Given the description of an element on the screen output the (x, y) to click on. 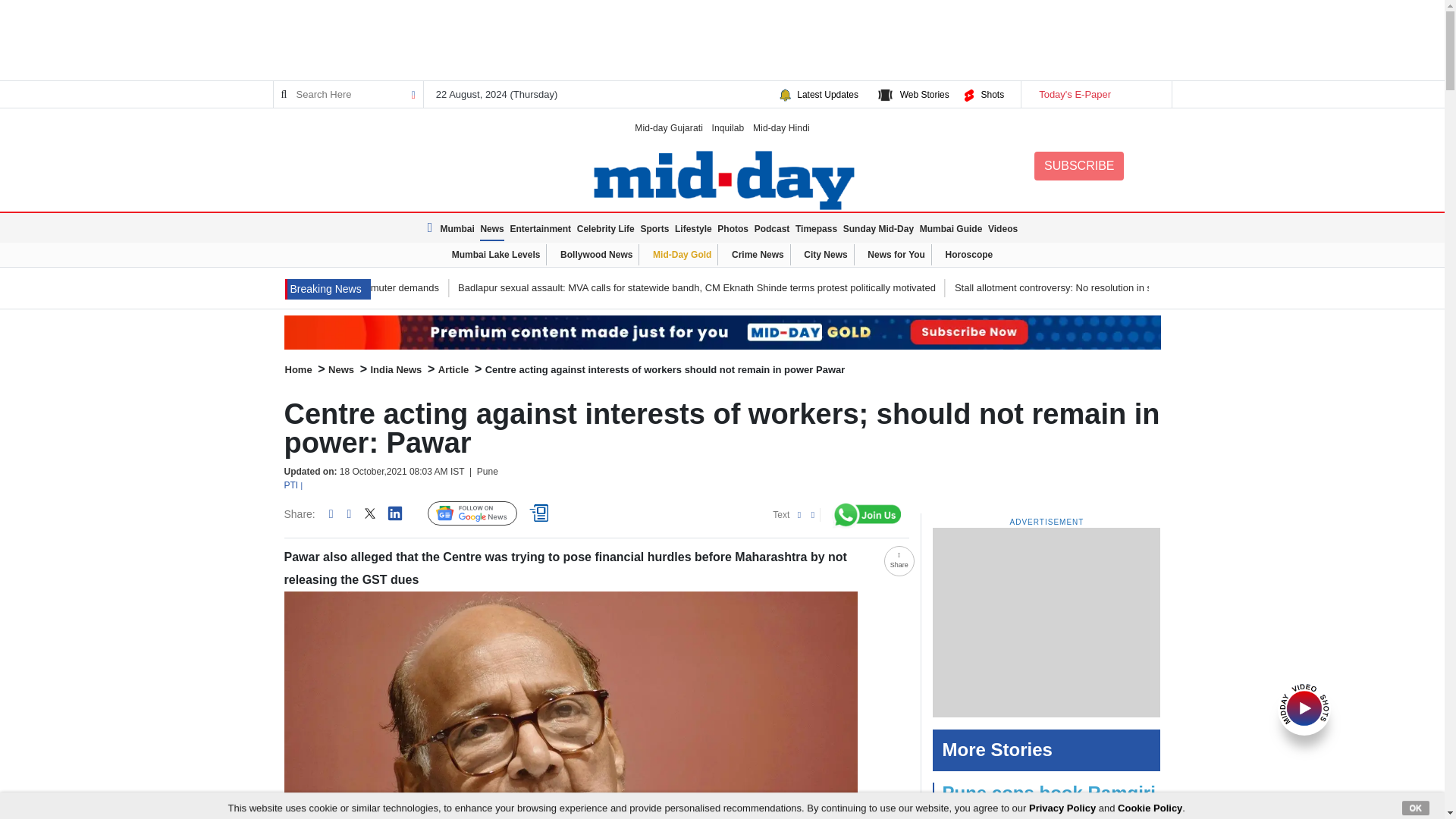
Inquilab (728, 127)
Quick Reads (541, 513)
Today's E-Paper (1095, 94)
Subscription (721, 332)
SUBSCRIBE (1078, 165)
Latest Updates (827, 94)
Shots (991, 94)
Midday Shot Videos (1304, 706)
Mid-day Hindi (780, 127)
